Given the description of an element on the screen output the (x, y) to click on. 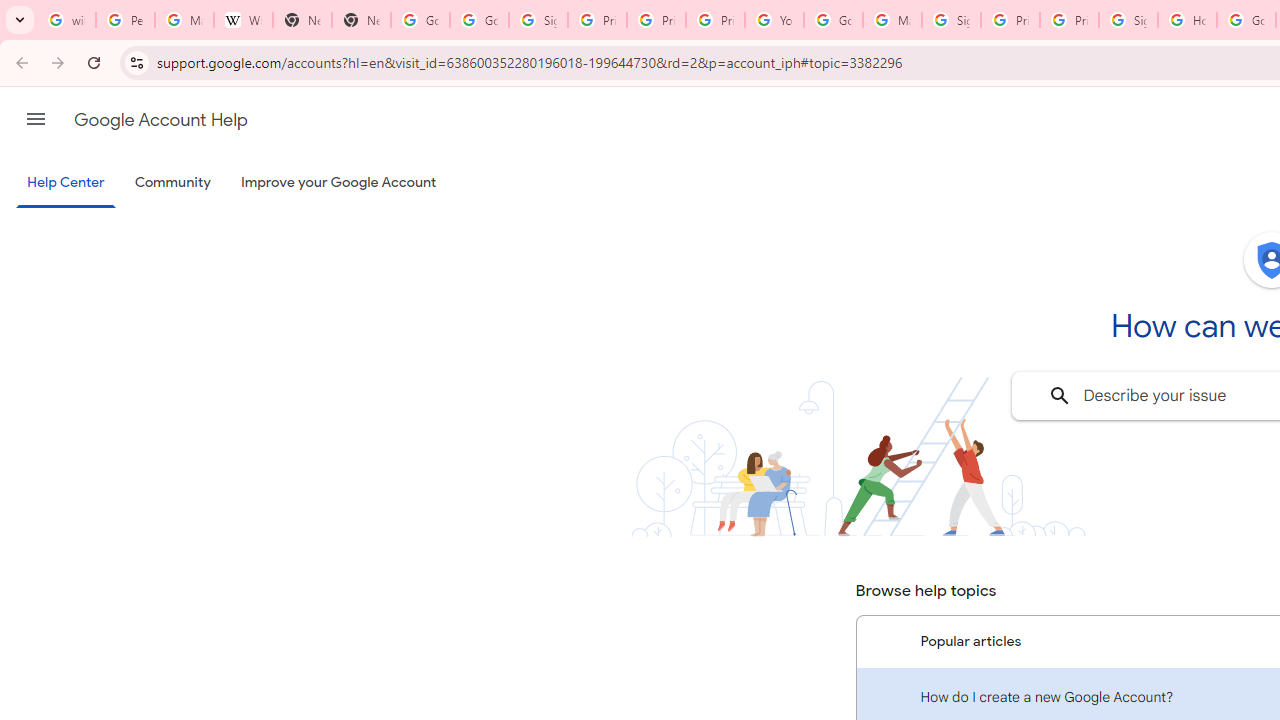
Sign in - Google Accounts (950, 20)
Personalization & Google Search results - Google Search Help (125, 20)
YouTube (774, 20)
Sign in - Google Accounts (538, 20)
Search (1059, 395)
Google Account Help (832, 20)
